Given the description of an element on the screen output the (x, y) to click on. 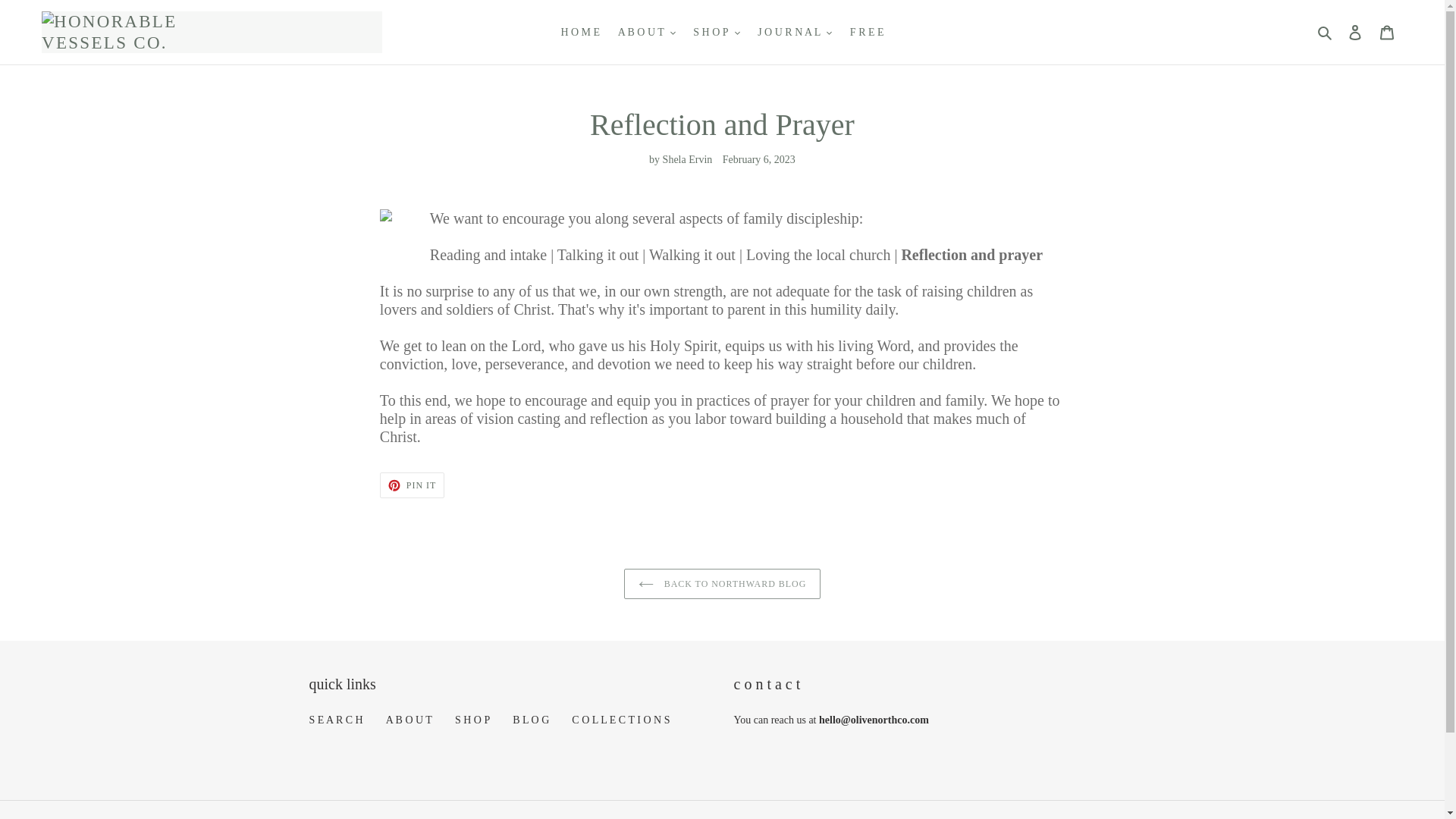
S H O P (715, 32)
H O M E (580, 32)
F R E E (867, 32)
J O U R N A L (794, 32)
A B O U T (646, 32)
Search (1326, 32)
Log in (1355, 32)
Cart (1387, 32)
